Given the description of an element on the screen output the (x, y) to click on. 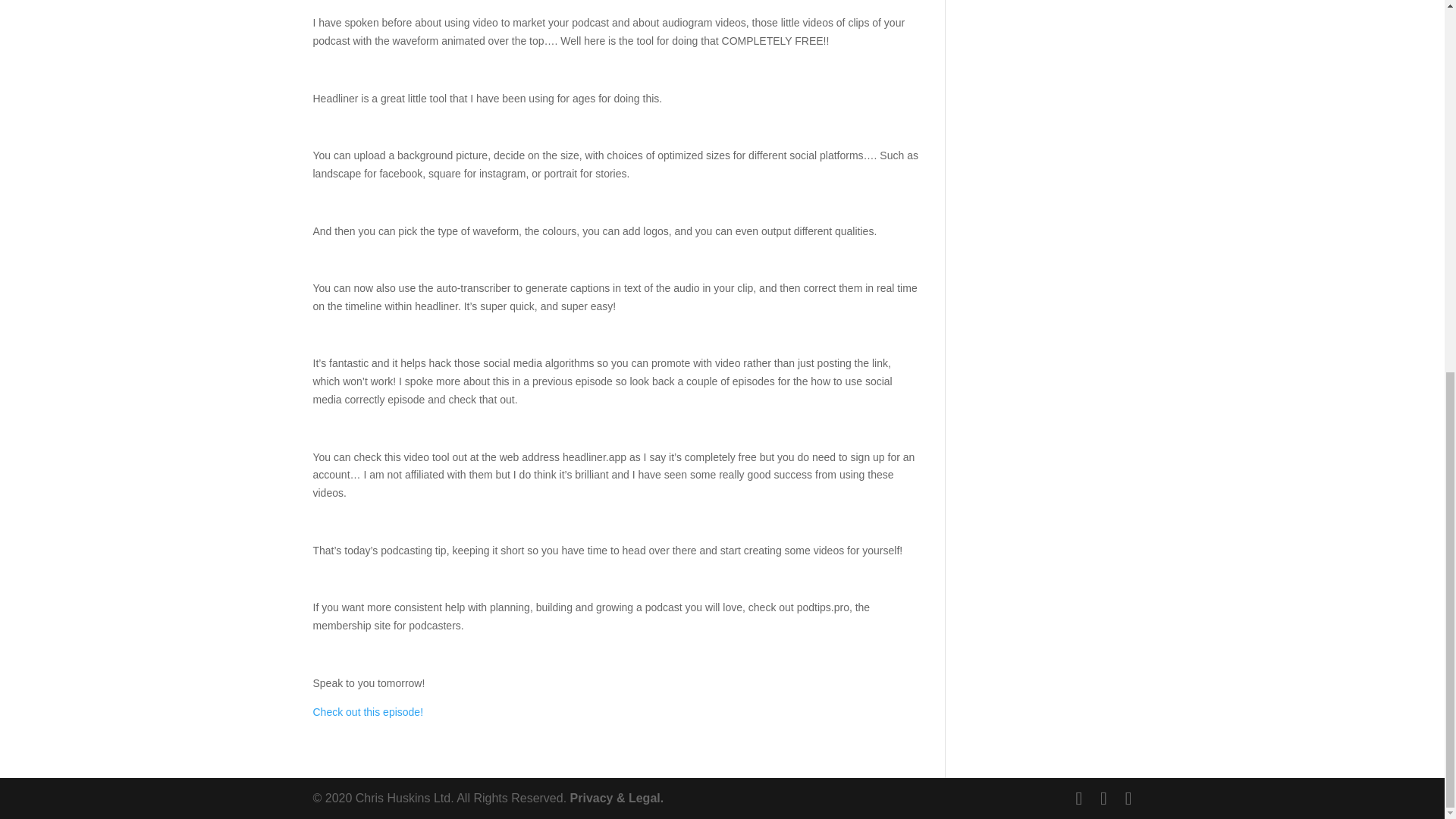
Check out this episode! (368, 711)
